Given the description of an element on the screen output the (x, y) to click on. 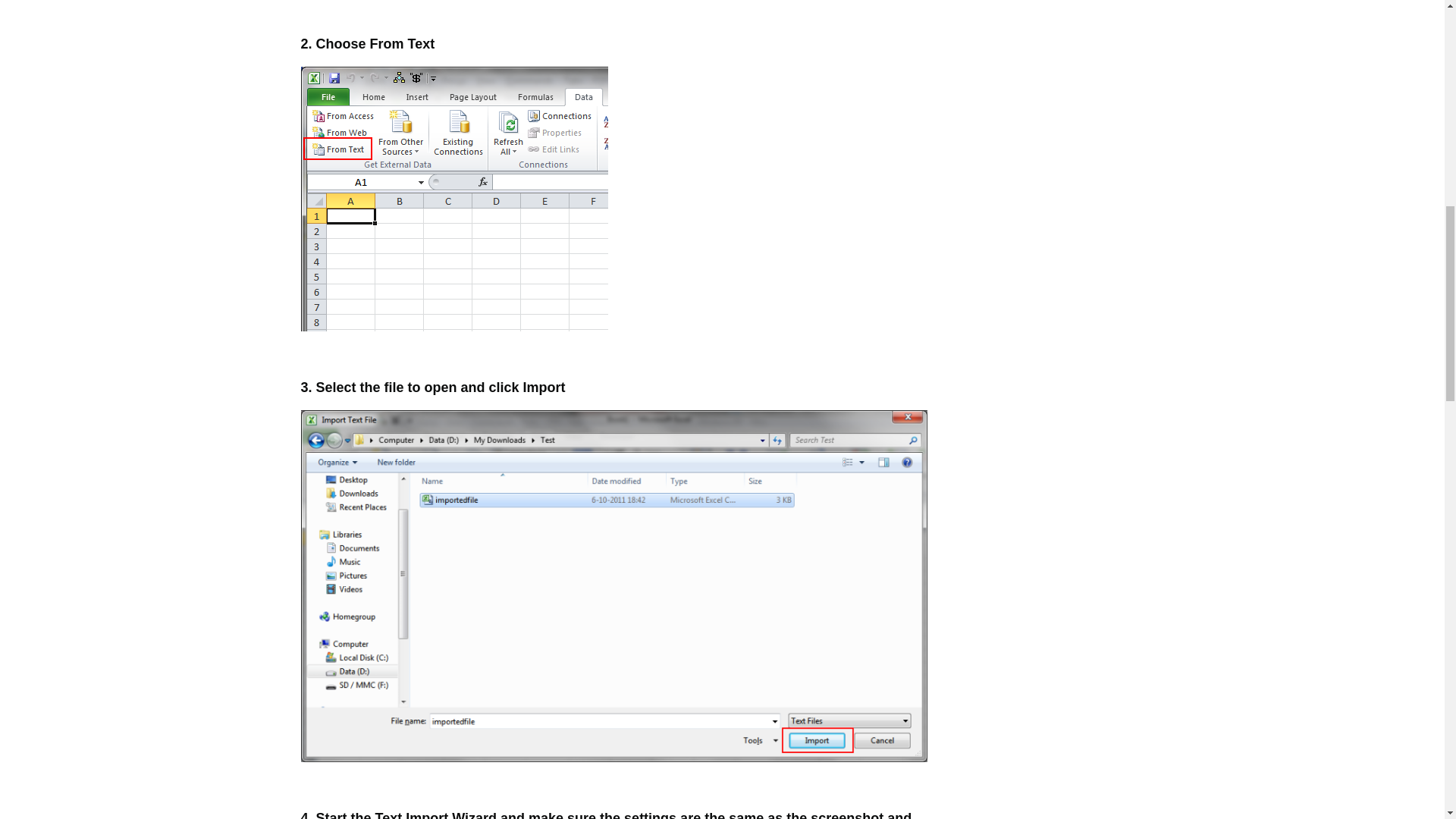
Open CSV Excel 2 (453, 198)
